Given the description of an element on the screen output the (x, y) to click on. 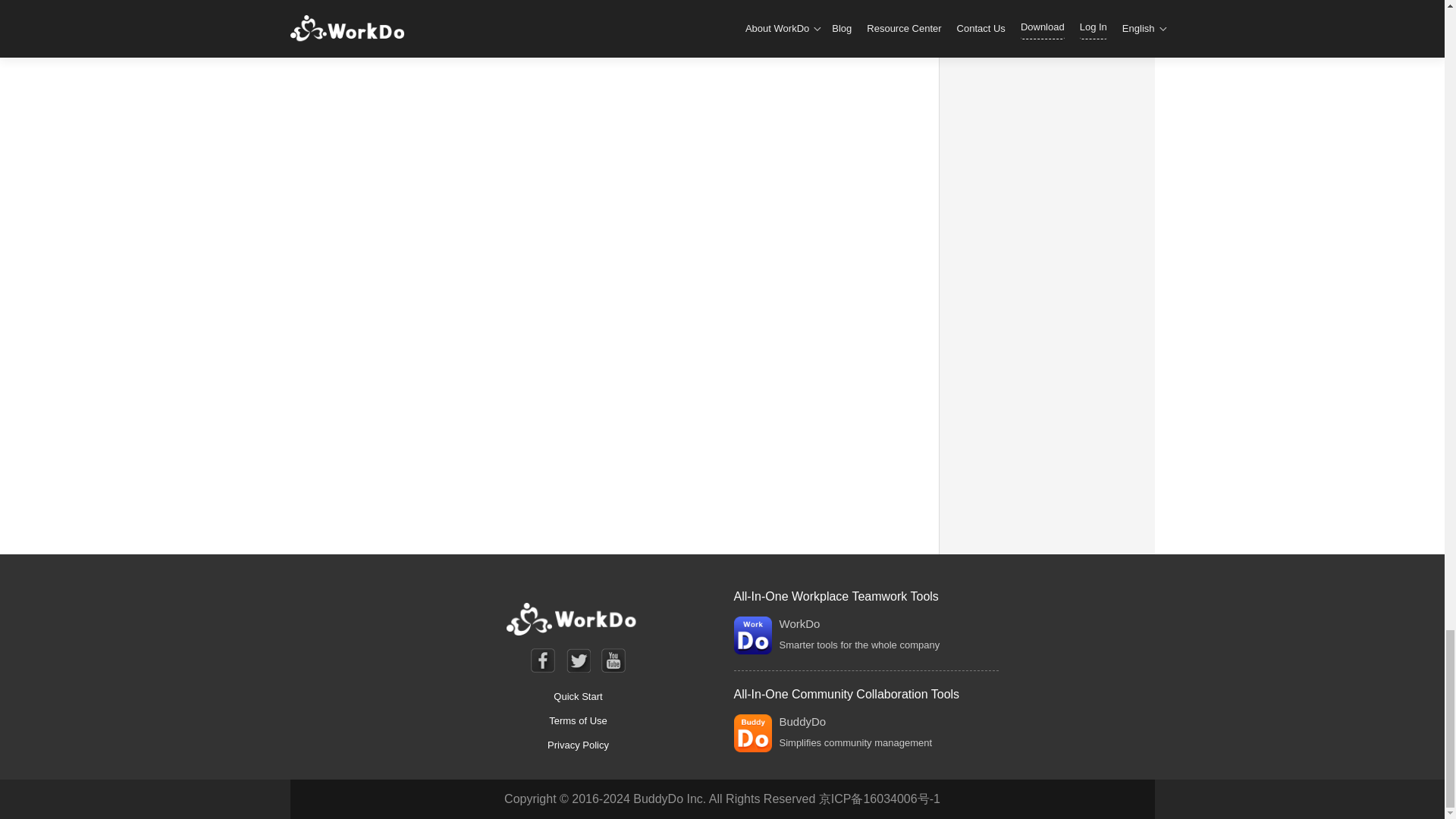
twitter (577, 660)
YouTube (613, 660)
Facebook (542, 660)
